Given the description of an element on the screen output the (x, y) to click on. 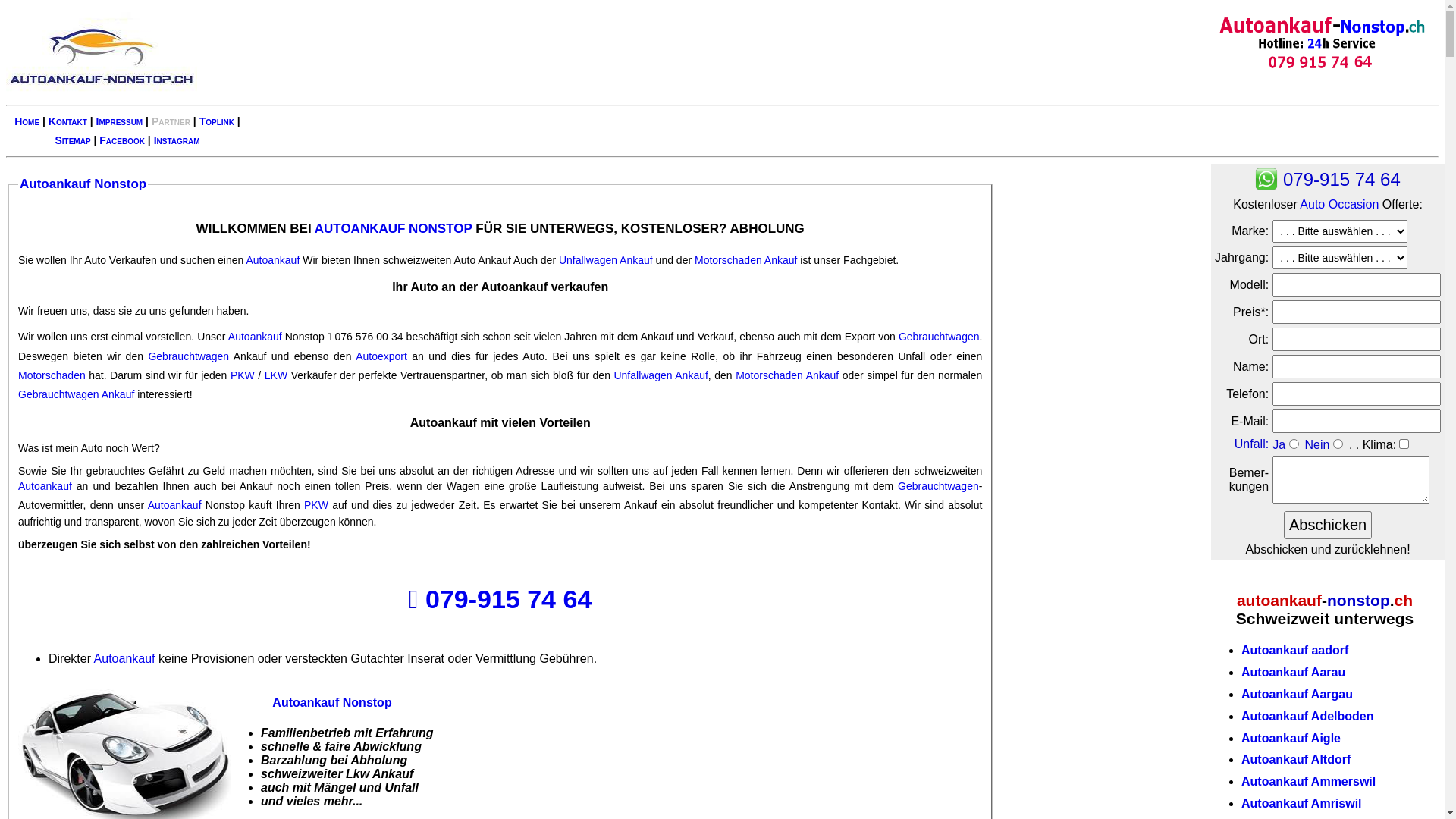
Auto Occasion Element type: text (1338, 203)
Autoankauf Aargau Element type: text (1296, 693)
079-915 74 64 Element type: text (508, 598)
Autoankauf Nonstop Element type: text (331, 702)
Motorschaden Ankauf Element type: text (786, 375)
Toplink Element type: text (216, 121)
Motorschaden Element type: text (51, 375)
Autoankauf Element type: text (272, 260)
Autoankauf Altdorf Element type: text (1295, 759)
Sitemap Element type: text (72, 140)
Autoankauf aadorf Element type: text (1294, 649)
Gebrauchtwagen Element type: text (938, 336)
Autoankauf Element type: text (255, 336)
Unfallwagen Ankauf Element type: text (660, 375)
Abschicken Element type: text (1327, 525)
Facebook Element type: text (121, 140)
Autoankauf Aigle Element type: text (1290, 737)
PKW Element type: text (242, 375)
Autoankauf Element type: text (124, 658)
Autoexport Element type: text (381, 356)
LKW Element type: text (275, 375)
Instagram Element type: text (176, 140)
Autoankauf Adelboden Element type: text (1307, 715)
Autoankauf Element type: text (45, 486)
Gebrauchtwagen Ankauf Element type: text (76, 394)
Motorschaden Ankauf Element type: text (745, 260)
PKW Element type: text (316, 504)
Kontakt Element type: text (67, 121)
Gebrauchtwagen Element type: text (938, 486)
Unfallwagen Ankauf Element type: text (605, 260)
Autoankauf Amriswil Element type: text (1301, 803)
Autoankauf Nonstop Element type: text (82, 183)
Home Element type: text (26, 121)
Autoankauf Aarau Element type: text (1293, 671)
AUTOANKAUF NONSTOP Element type: text (393, 228)
Impressum Element type: text (119, 121)
Autoankauf Ammerswil Element type: text (1308, 781)
Gebrauchtwagen Element type: text (188, 356)
Autoankauf Element type: text (174, 504)
Partner Element type: text (170, 121)
